Given the description of an element on the screen output the (x, y) to click on. 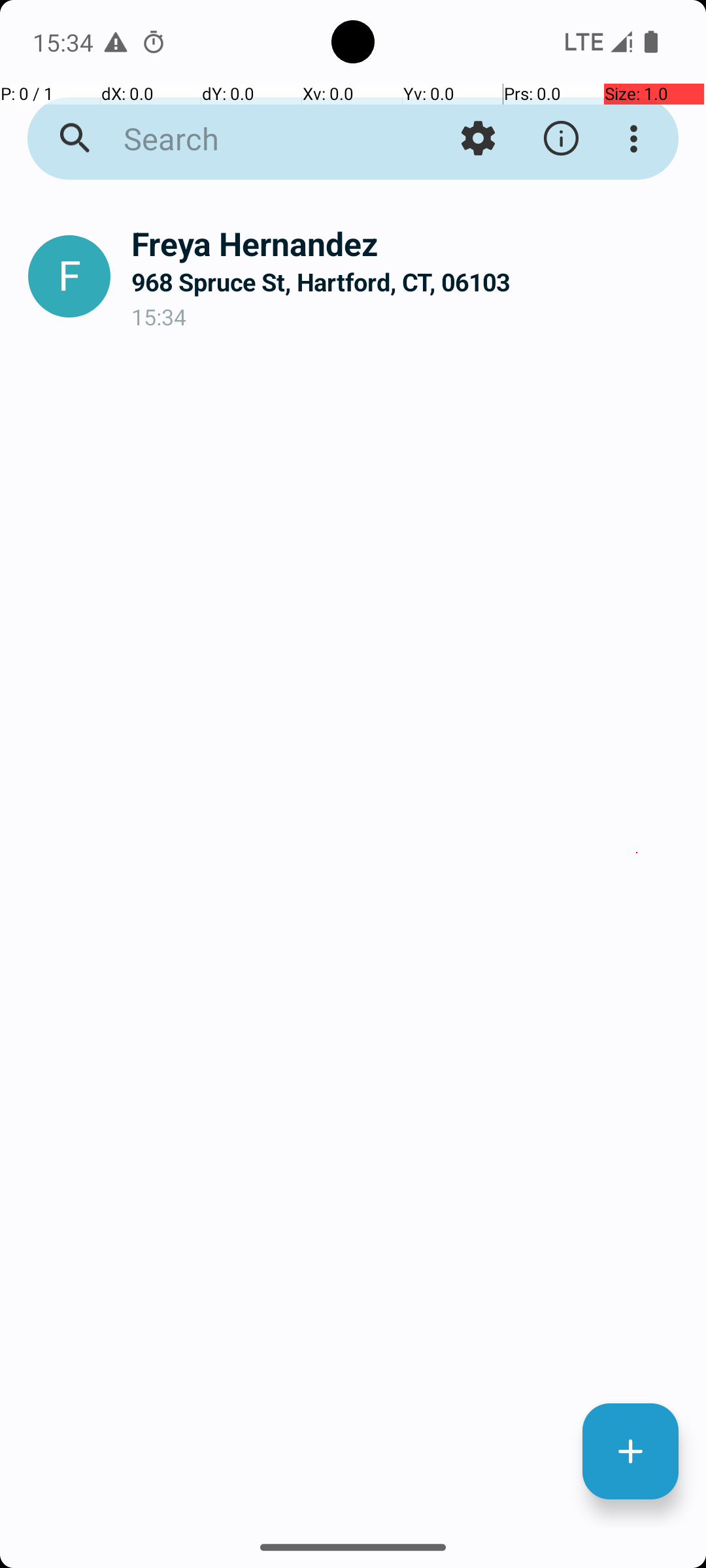
Freya Hernandez Element type: android.widget.TextView (408, 242)
968 Spruce St, Hartford, CT, 06103 Element type: android.widget.TextView (408, 281)
